Given the description of an element on the screen output the (x, y) to click on. 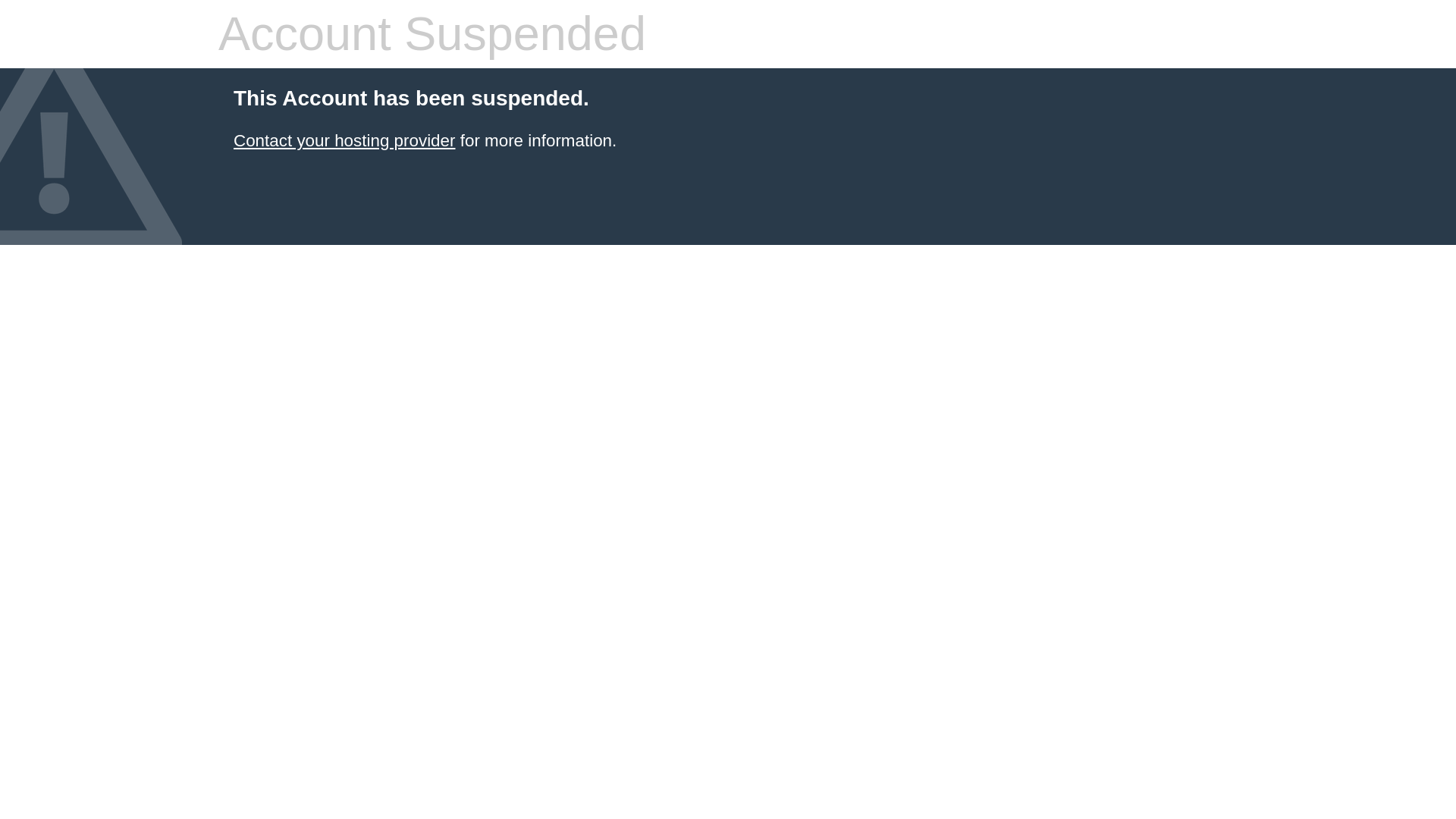
Contact your hosting provider (343, 140)
